Given the description of an element on the screen output the (x, y) to click on. 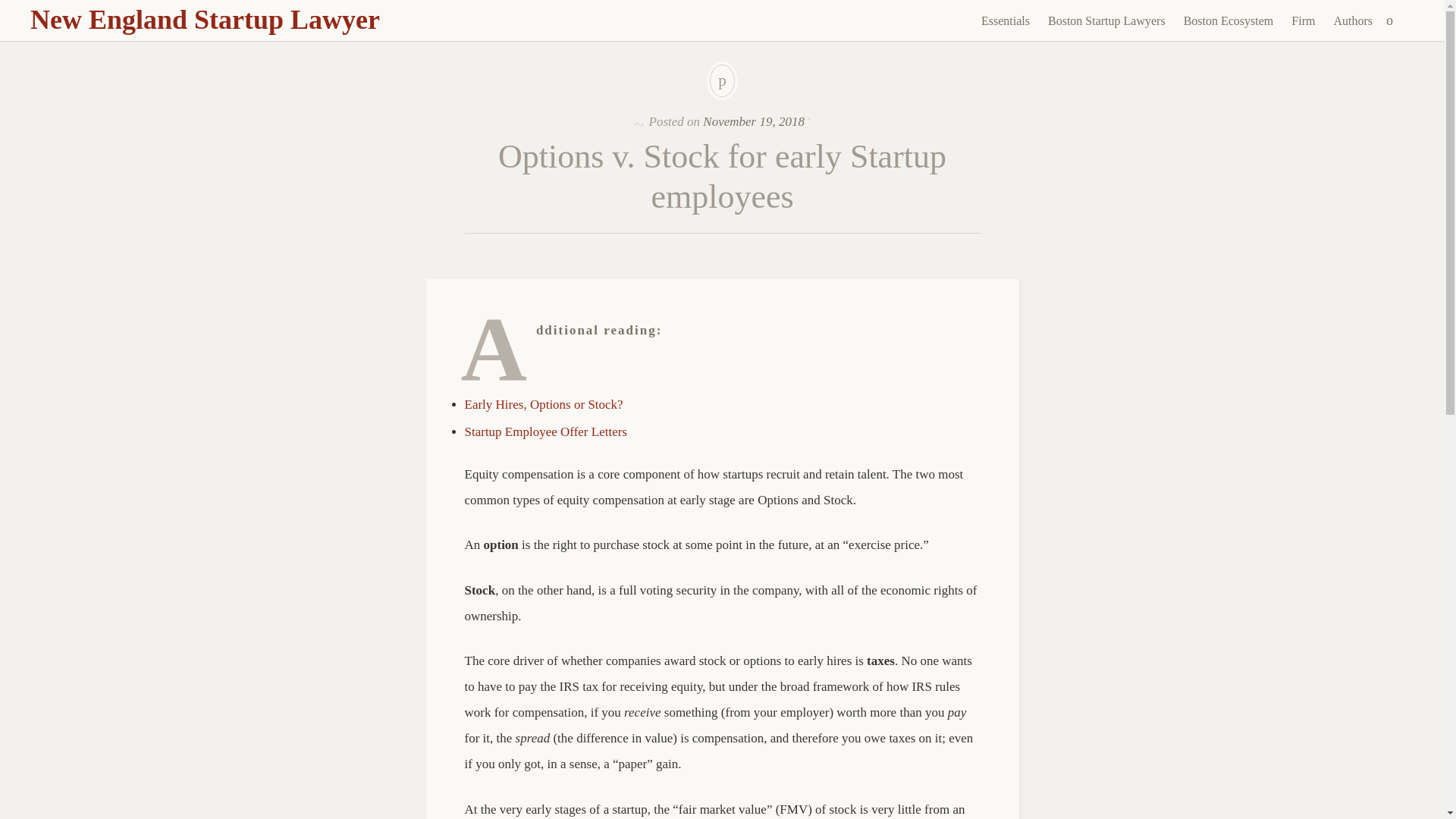
Search (11, 9)
Authors (1352, 21)
Startup Employee Offer Letters (545, 431)
Early Hires, Options or Stock? (543, 404)
Essentials (1005, 21)
New England Startup Lawyer (205, 19)
Firm (1303, 21)
New England Startup Lawyer (205, 19)
November 19, 2018 (754, 120)
Boston Startup Lawyers (1107, 21)
